Given the description of an element on the screen output the (x, y) to click on. 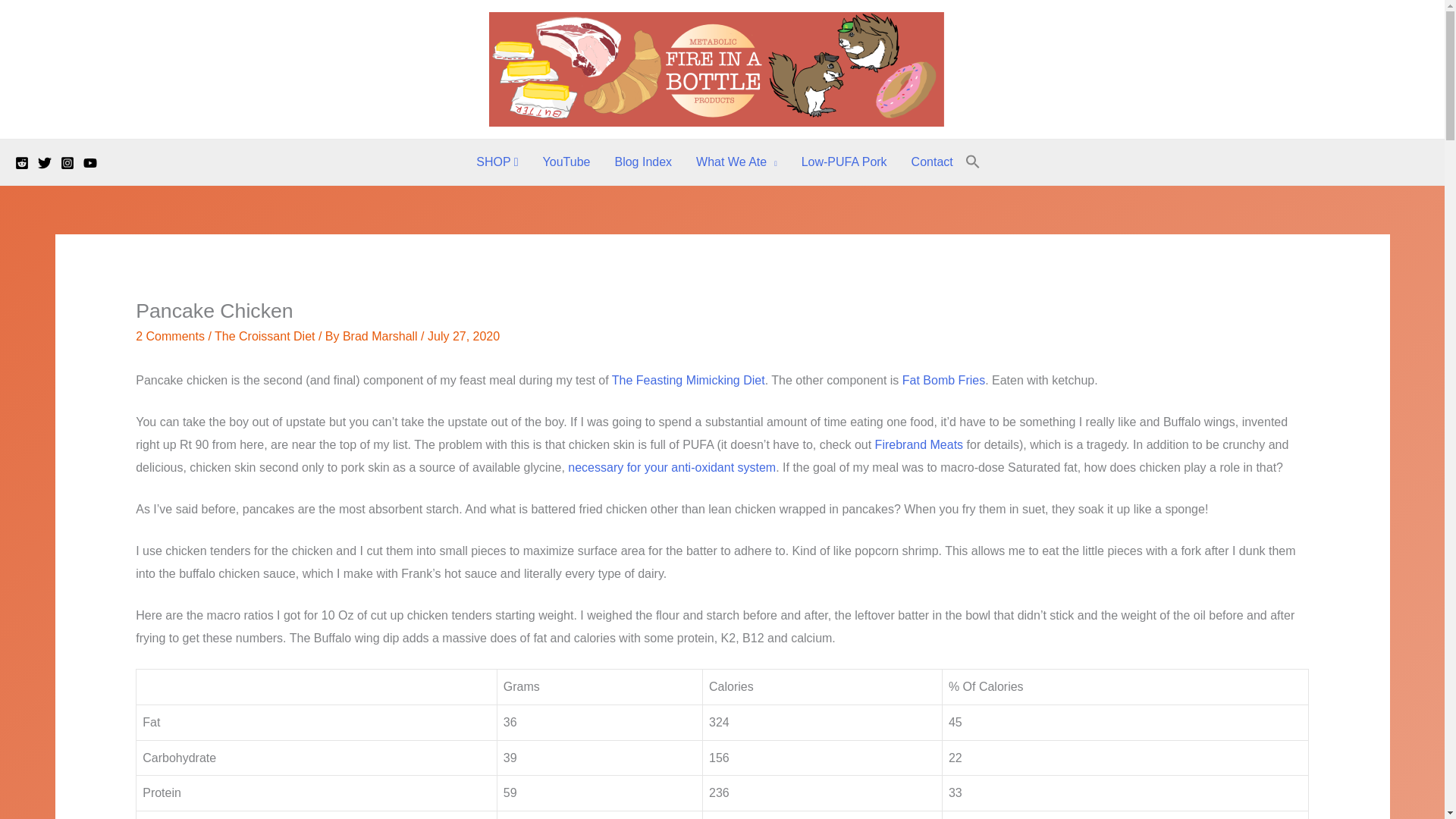
Contact (932, 162)
What We Ate (736, 162)
Low-PUFA Pork (844, 162)
Blog Index (643, 162)
View all posts by Brad Marshall (381, 336)
YouTube (566, 162)
